Given the description of an element on the screen output the (x, y) to click on. 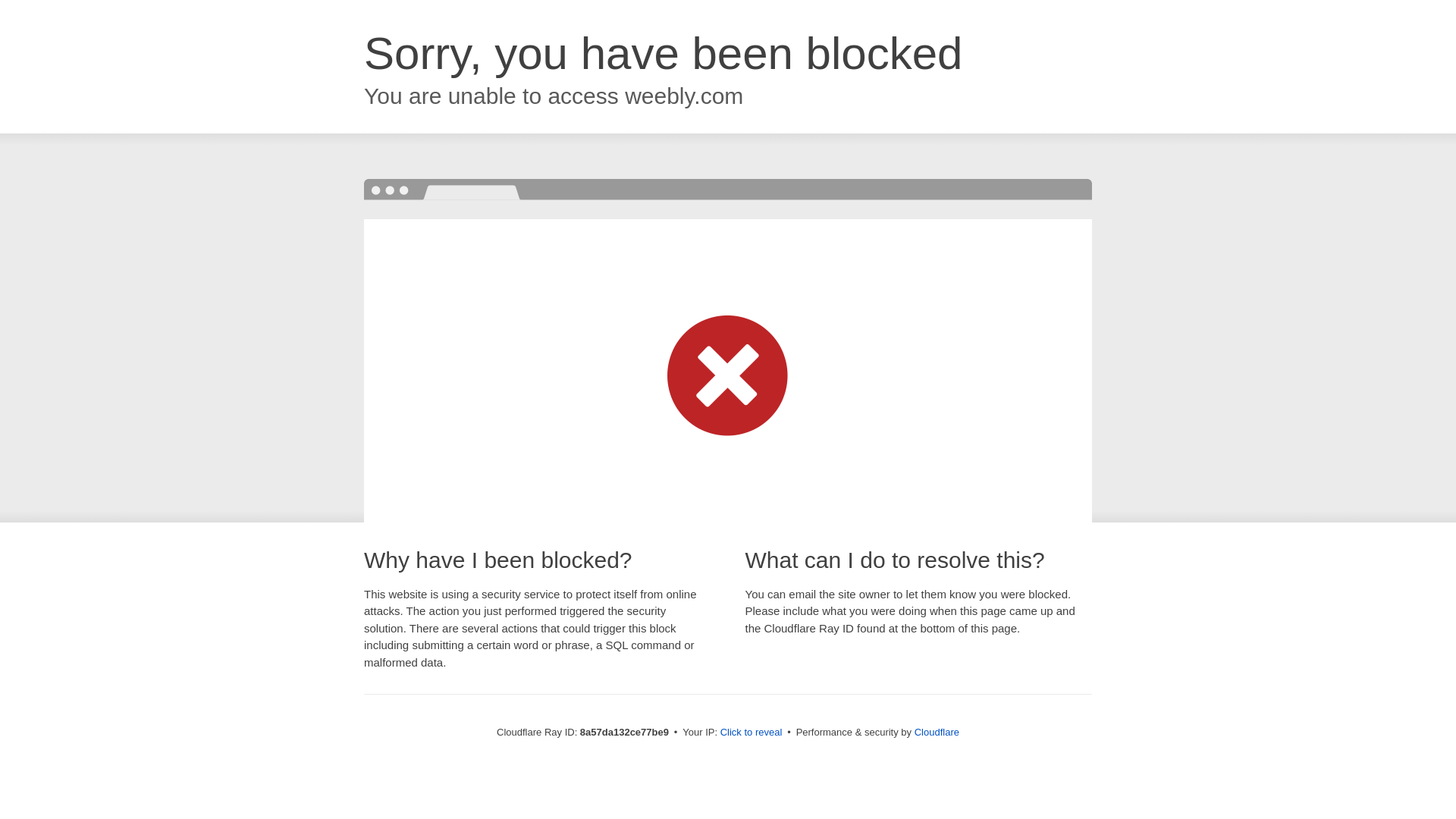
Cloudflare (936, 731)
Click to reveal (751, 732)
